Given the description of an element on the screen output the (x, y) to click on. 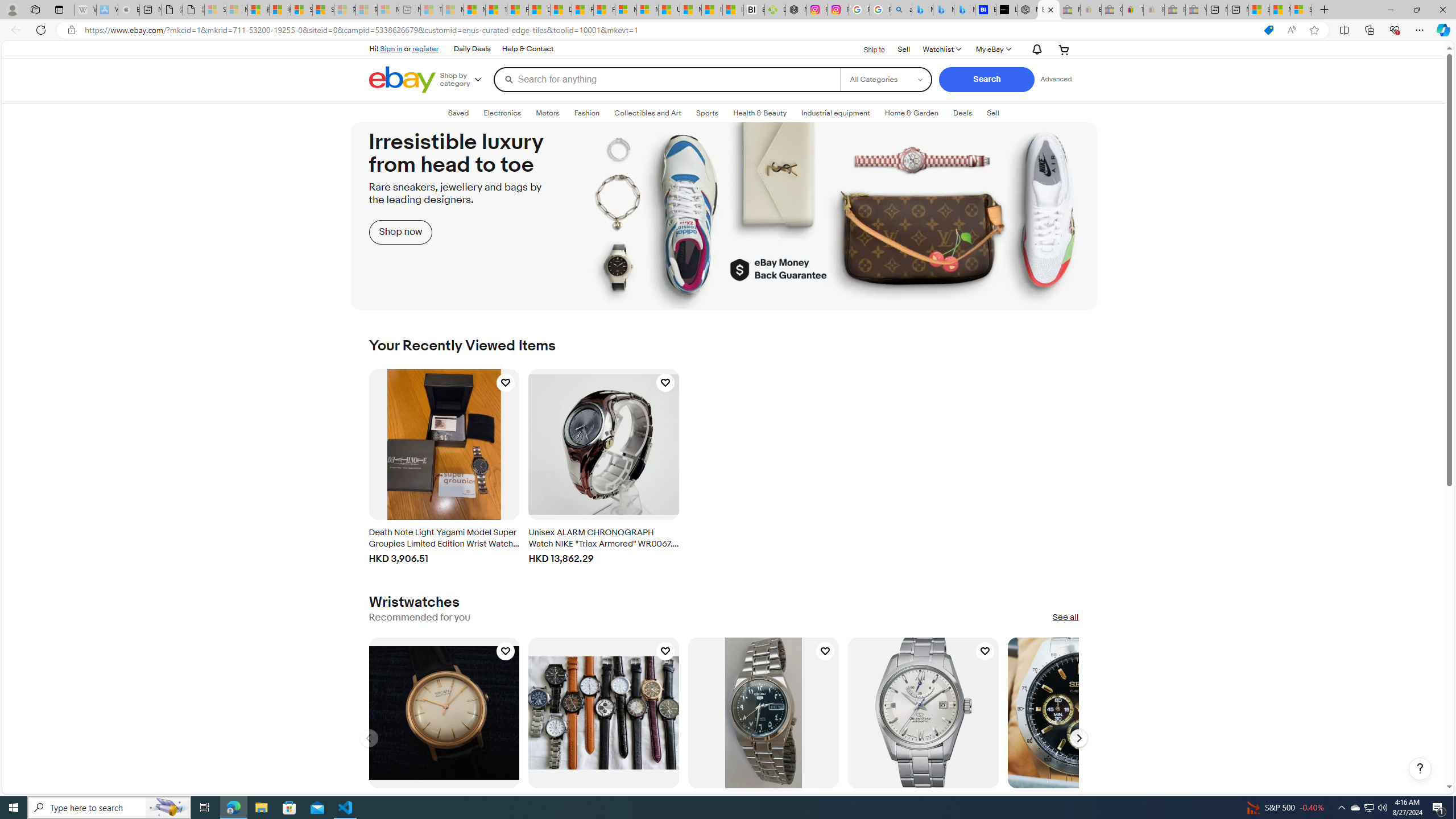
AutomationID: gh-eb-Alerts (1035, 49)
Wristwatches (414, 601)
eBay Home (401, 79)
Search for anything (666, 78)
Home & GardenExpand: Home & Garden (911, 112)
register (425, 48)
Yard, Garden & Outdoor Living - Sleeping (1195, 9)
